Given the description of an element on the screen output the (x, y) to click on. 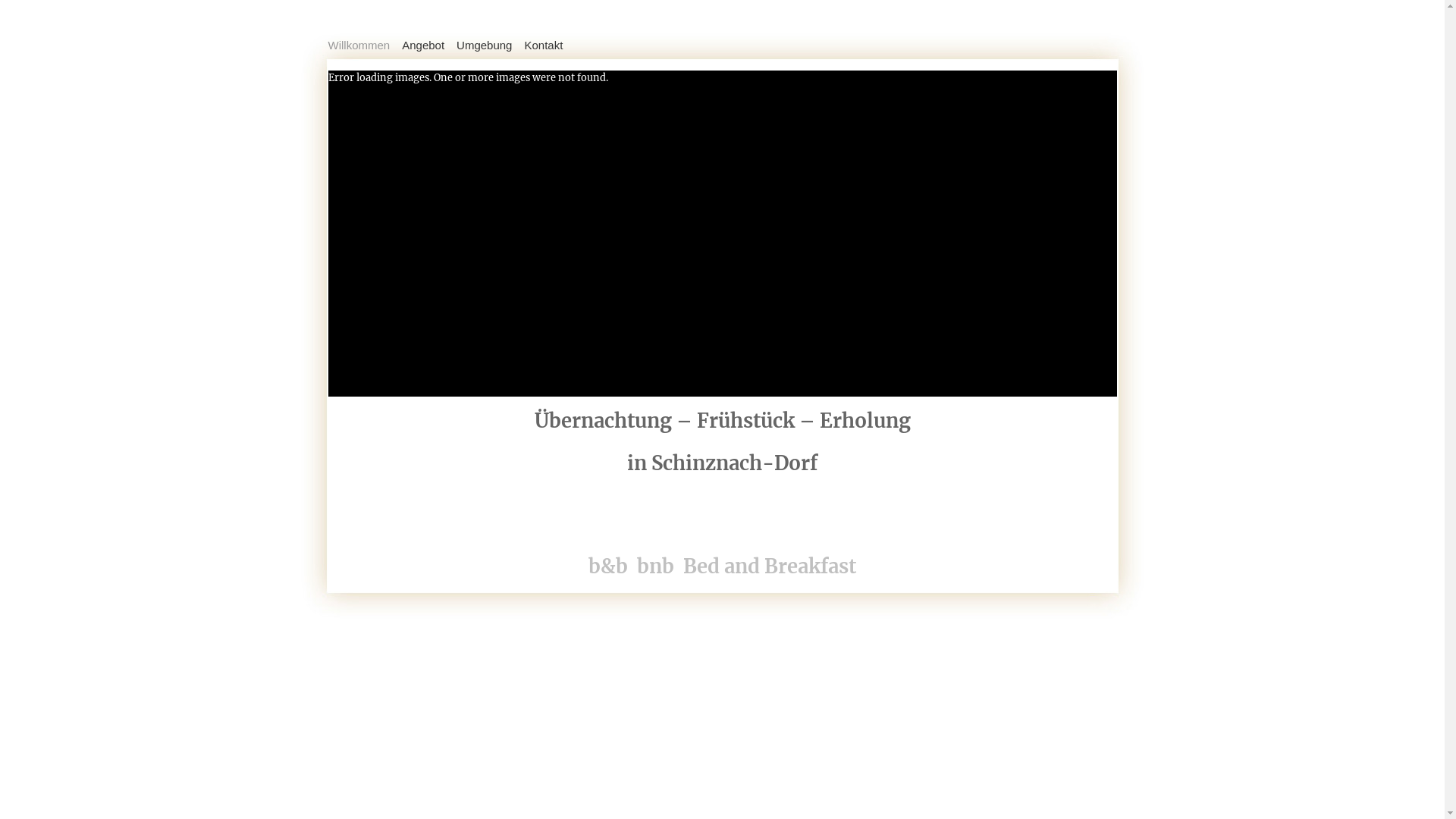
Umgebung Element type: text (490, 48)
Angebot Element type: text (428, 48)
Kontakt Element type: text (549, 48)
Willkommen Element type: text (364, 48)
